Given the description of an element on the screen output the (x, y) to click on. 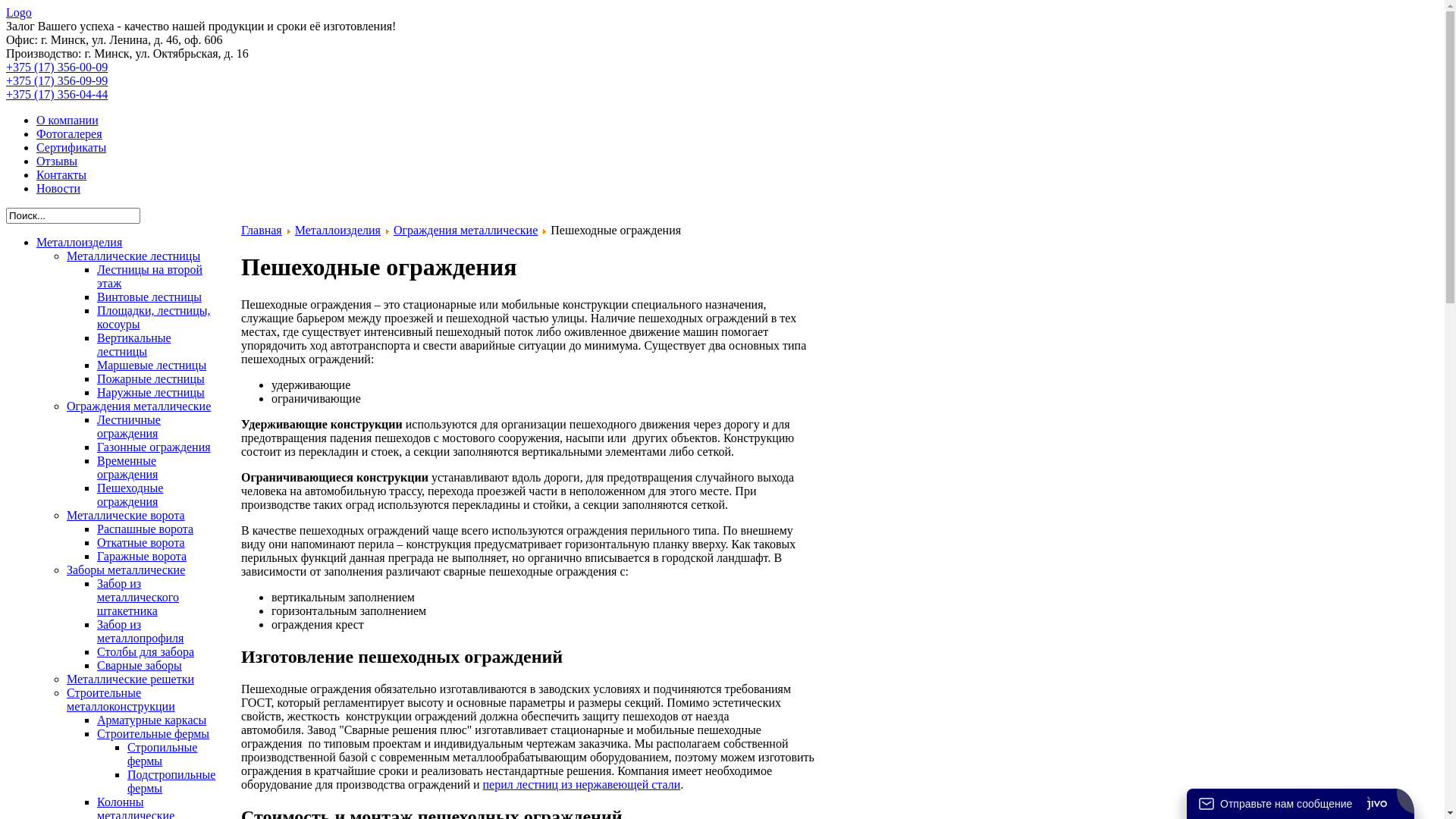
+375 (17) 356-00-09 Element type: text (56, 66)
+375 (17) 356-04-44 Element type: text (56, 93)
+375 (17) 356-09-99 Element type: text (56, 80)
Logo Element type: text (18, 12)
